Given the description of an element on the screen output the (x, y) to click on. 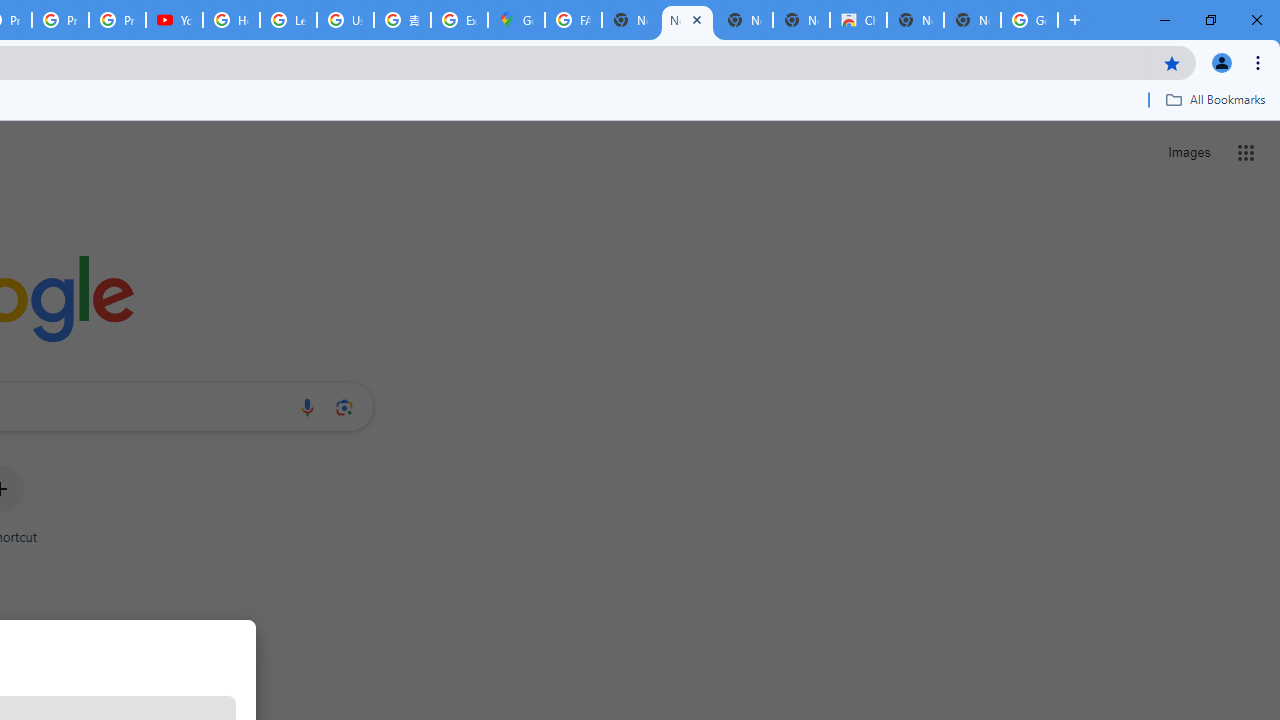
How Chrome protects your passwords - Google Chrome Help (231, 20)
Google Maps (516, 20)
Privacy Checkup (116, 20)
Explore new street-level details - Google Maps Help (459, 20)
New Tab (971, 20)
Google Images (1029, 20)
